Given the description of an element on the screen output the (x, y) to click on. 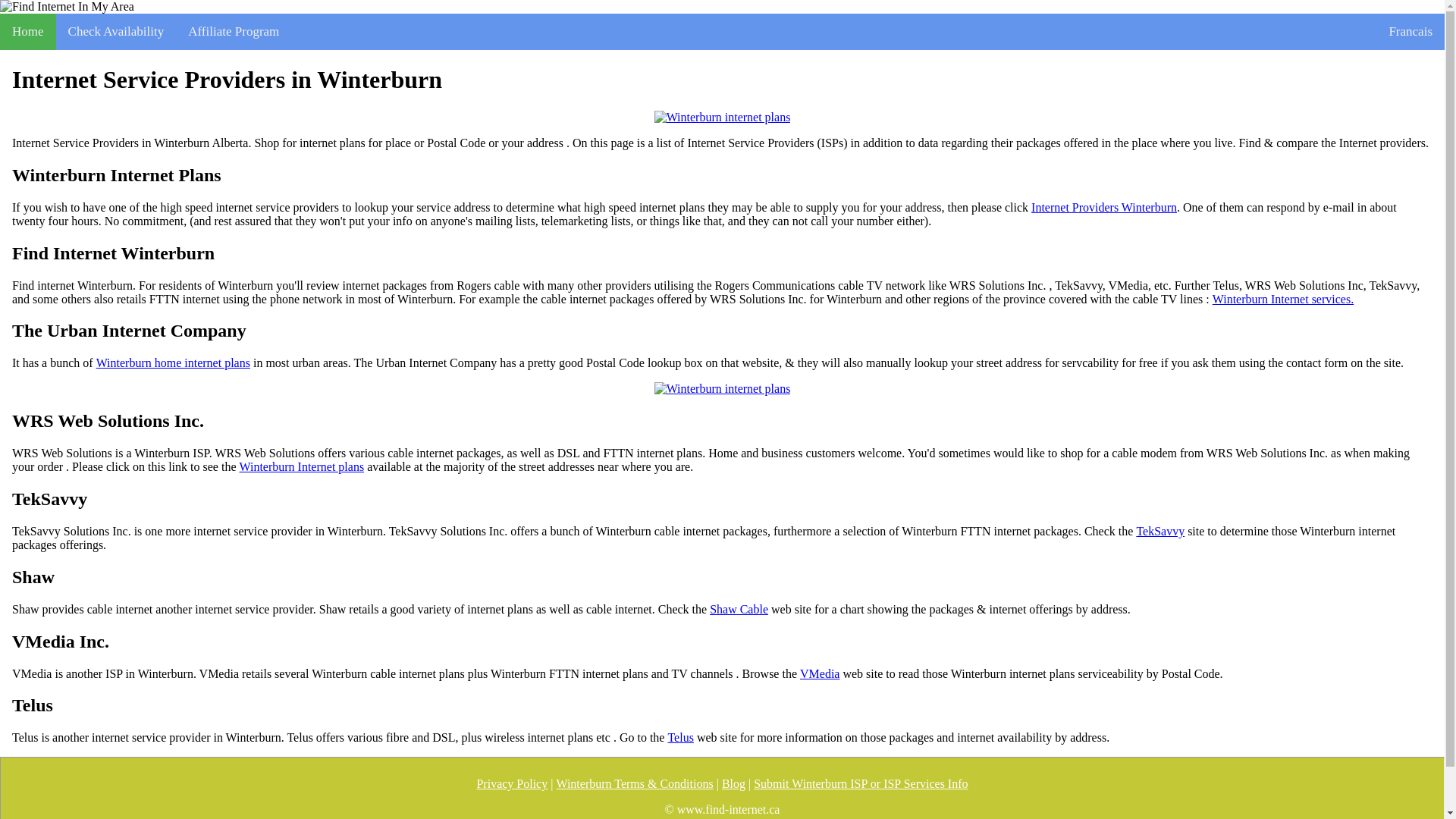
Shaw Cable (739, 609)
Winterburn Internet plans (301, 467)
Blog (733, 784)
Telus (679, 737)
Submit Winterburn ISP or ISP Services Info (861, 784)
VMedia (819, 673)
Winterburn Internet services. (1283, 299)
Winterburn home internet plans (173, 363)
Affiliate Program (233, 31)
Internet Providers Winterburn (1103, 207)
Privacy Policy (511, 784)
Check Availability (116, 31)
Home (28, 31)
TekSavvy (1160, 531)
